Given the description of an element on the screen output the (x, y) to click on. 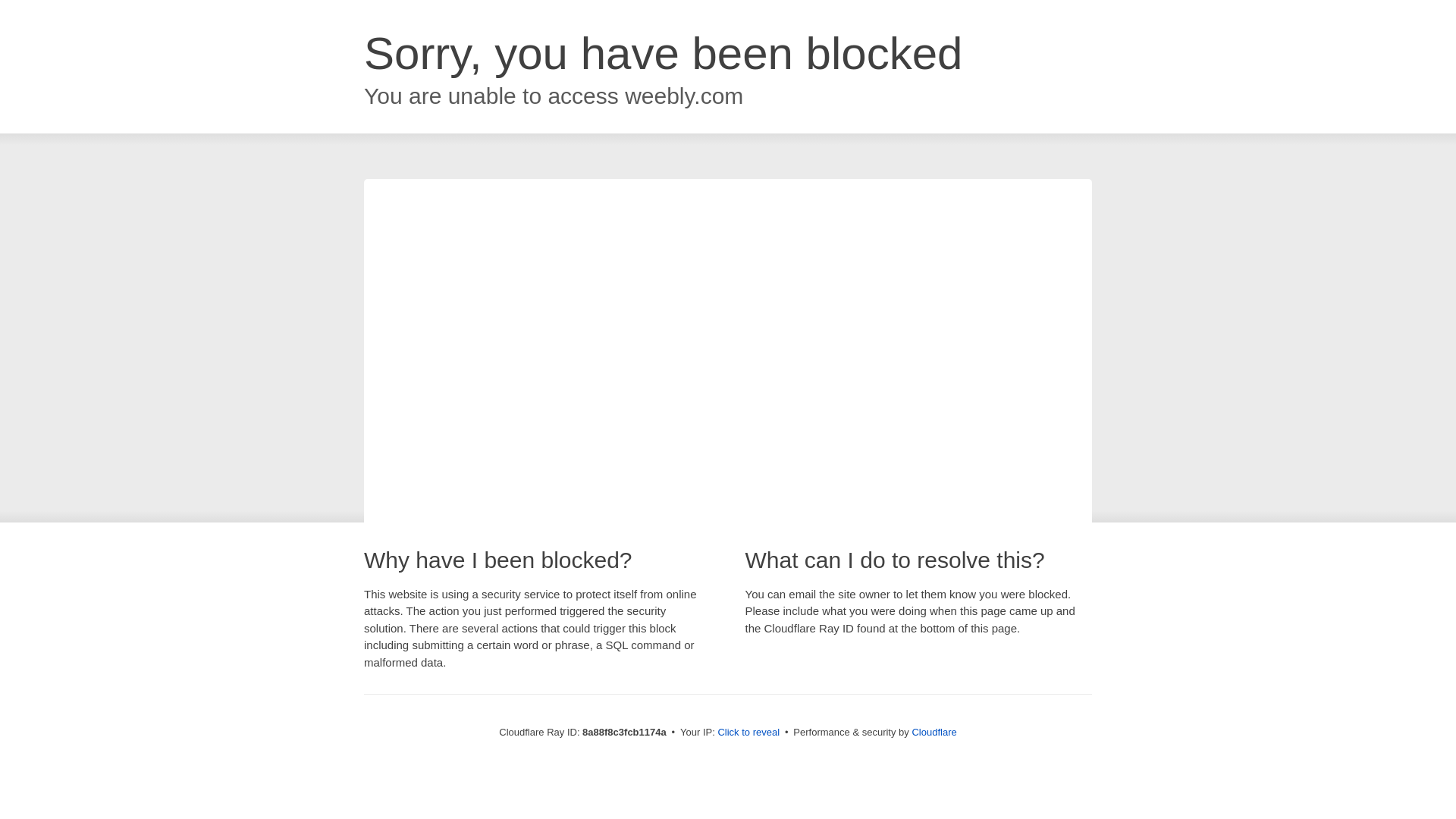
Click to reveal (747, 732)
Cloudflare (933, 731)
